Given the description of an element on the screen output the (x, y) to click on. 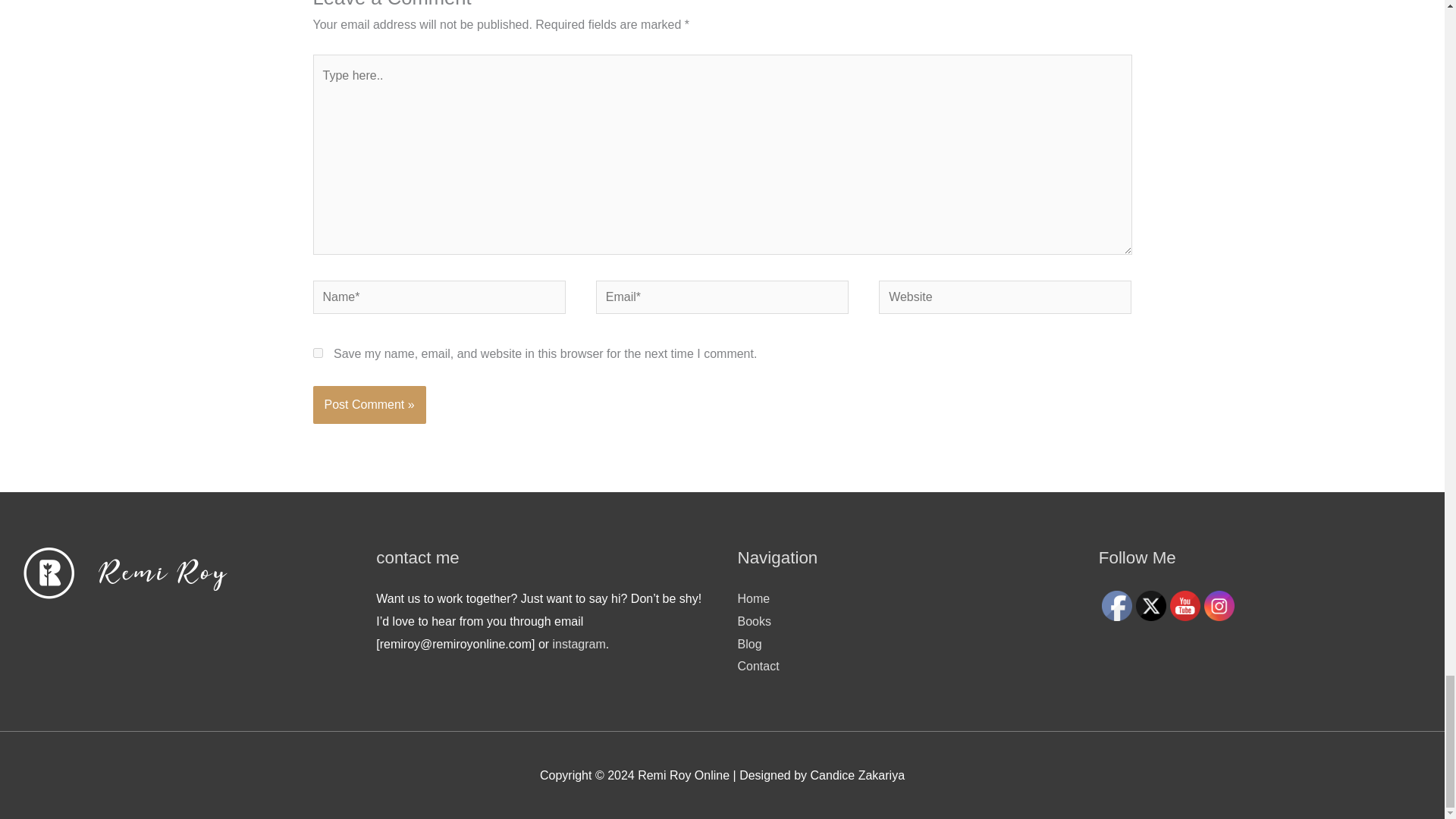
yes (317, 352)
Contact (757, 666)
Facebook (1117, 605)
Twitter (1150, 605)
Instagram (1219, 605)
Home (753, 598)
Books (753, 621)
YouTube (1184, 605)
Blog (748, 644)
instagram (579, 644)
